Given the description of an element on the screen output the (x, y) to click on. 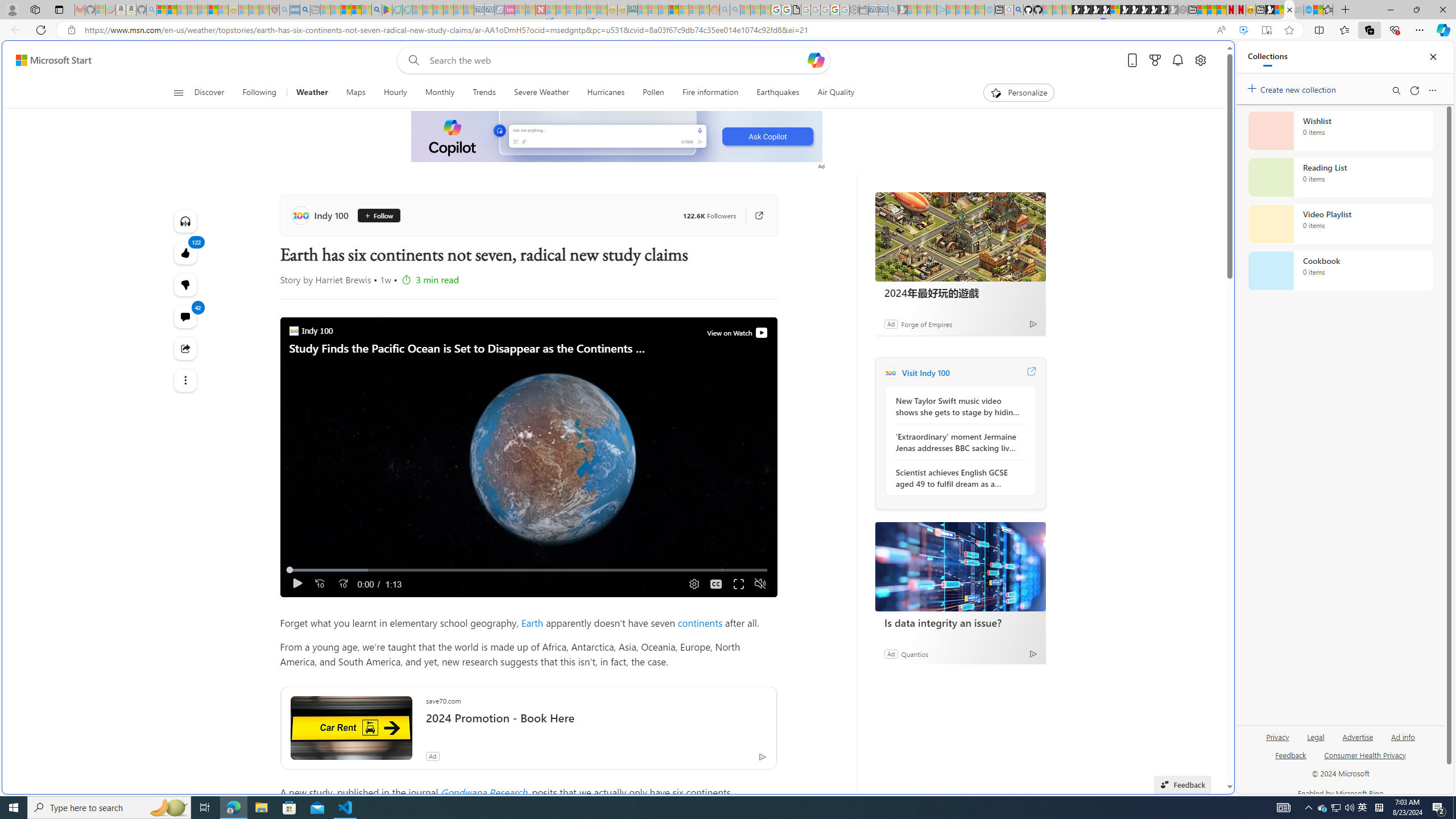
Reading List collection, 0 items (1339, 177)
Share this story (184, 348)
Fire information (709, 92)
Is data integrity an issue? (960, 566)
Close split screen (1208, 57)
The Weather Channel - MSN - Sleeping (181, 9)
Tabs you've opened (885, 151)
Jobs - lastminute.com Investor Portal - Sleeping (509, 9)
Visit Indy 100 website (1031, 372)
Web search (411, 60)
